Given the description of an element on the screen output the (x, y) to click on. 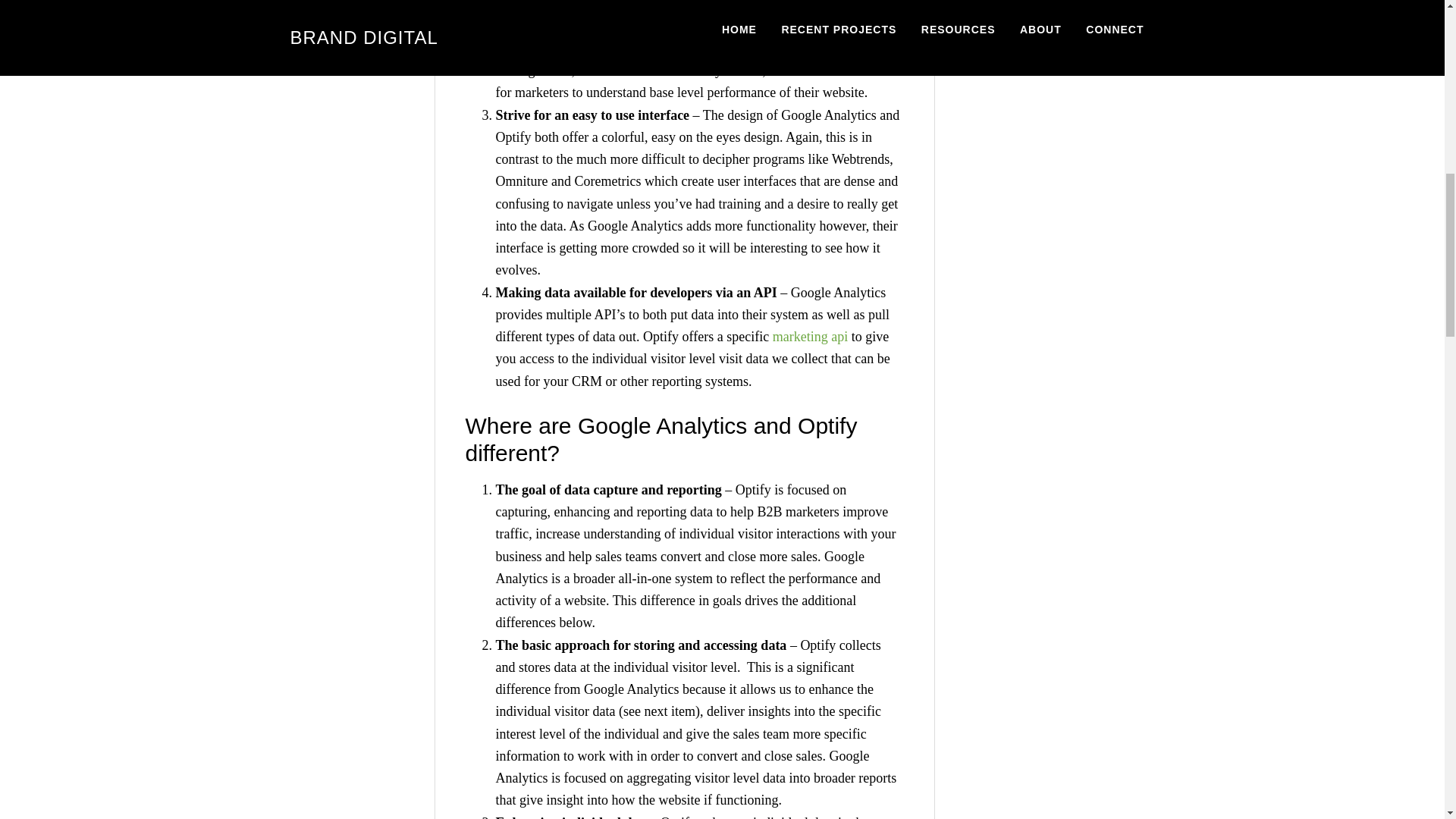
marketing api (810, 336)
